Given the description of an element on the screen output the (x, y) to click on. 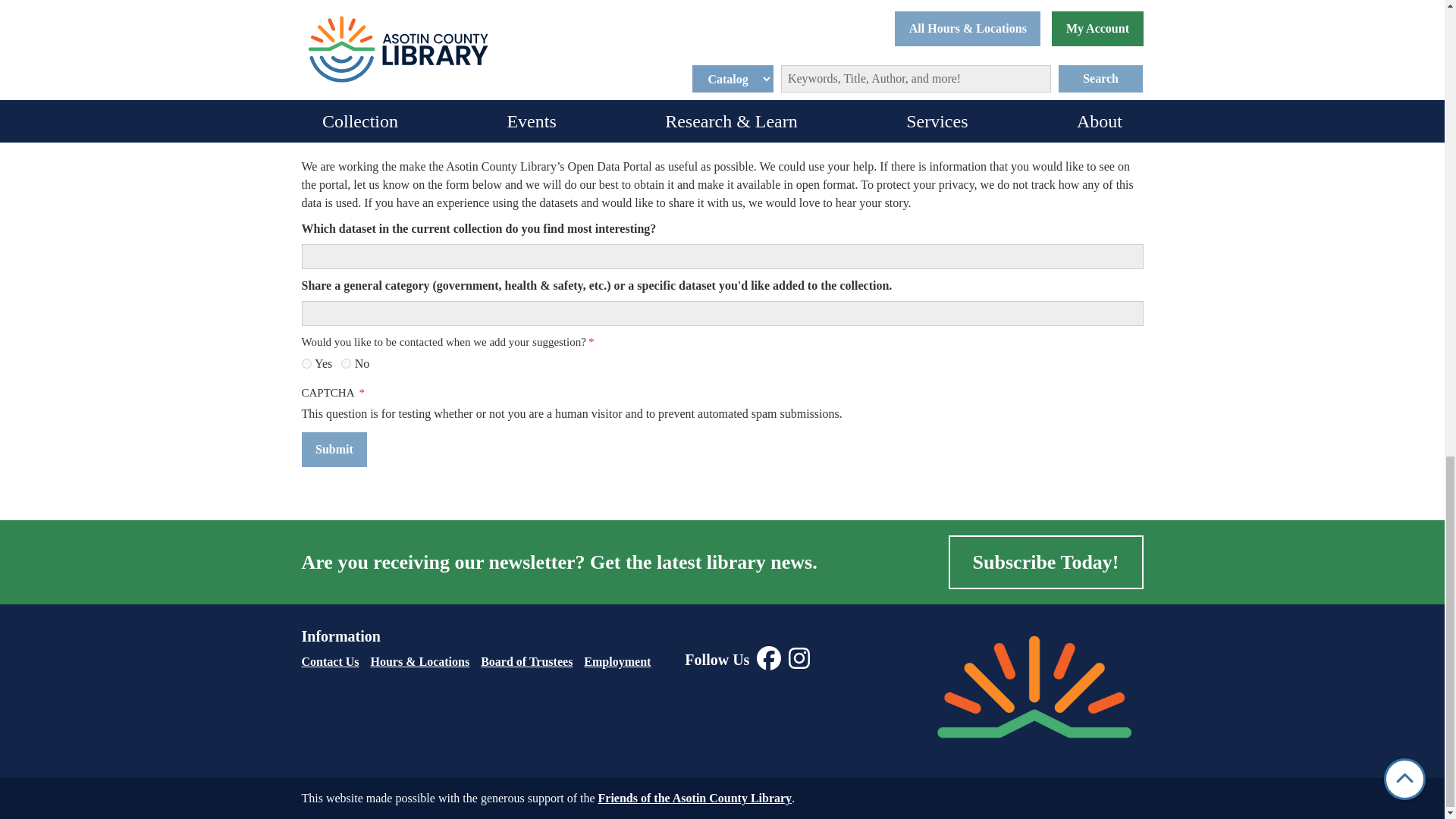
No (345, 363)
Yes (306, 363)
Submit (334, 449)
